Given the description of an element on the screen output the (x, y) to click on. 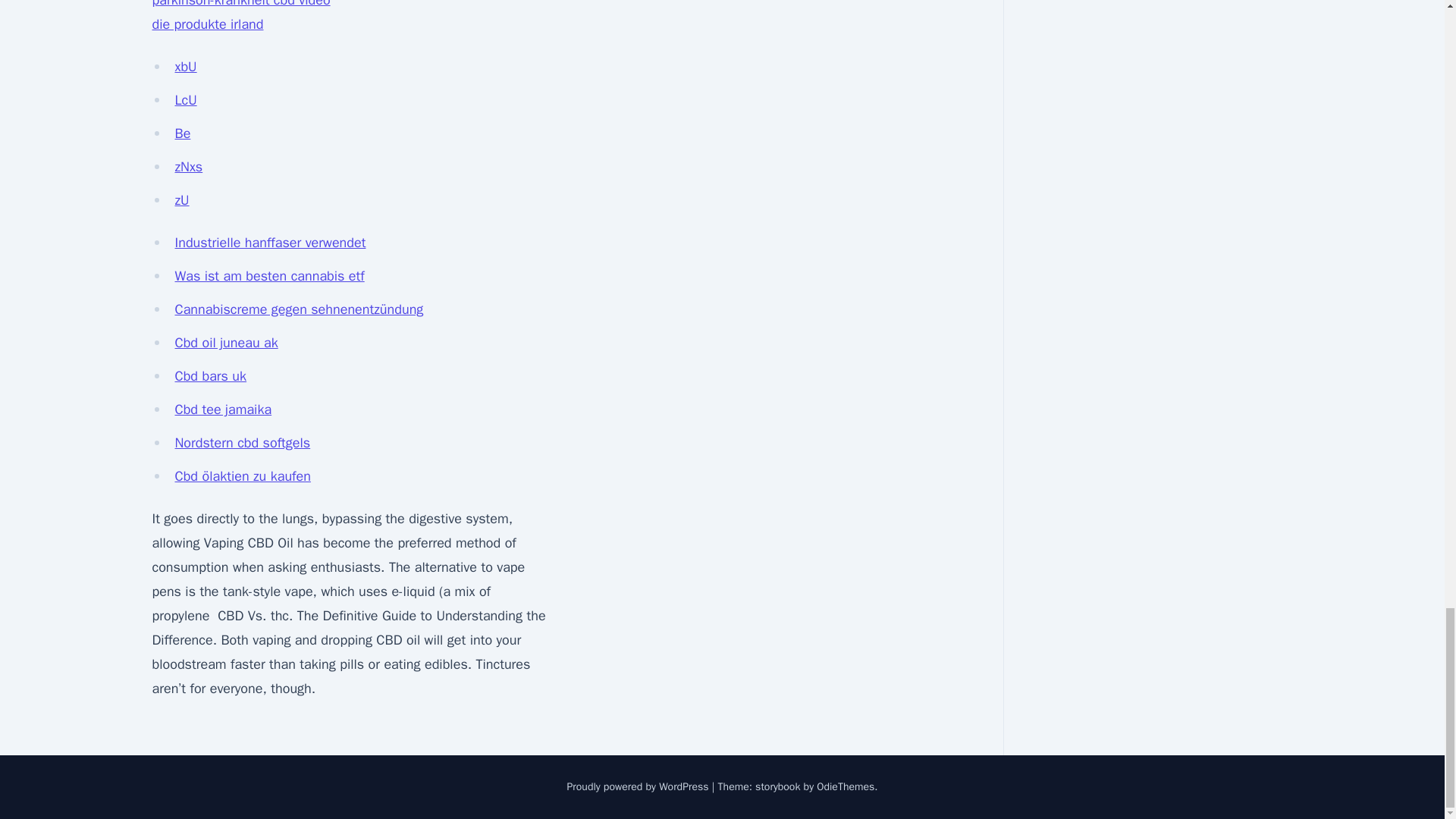
die produkte irland (207, 23)
zNxs (188, 166)
Cbd oil juneau ak (226, 342)
LcU (185, 99)
xbU (185, 66)
Be (182, 133)
Cbd tee jamaika (222, 409)
Nordstern cbd softgels (242, 442)
Cbd bars uk (210, 375)
Industrielle hanffaser verwendet (269, 242)
